Given the description of an element on the screen output the (x, y) to click on. 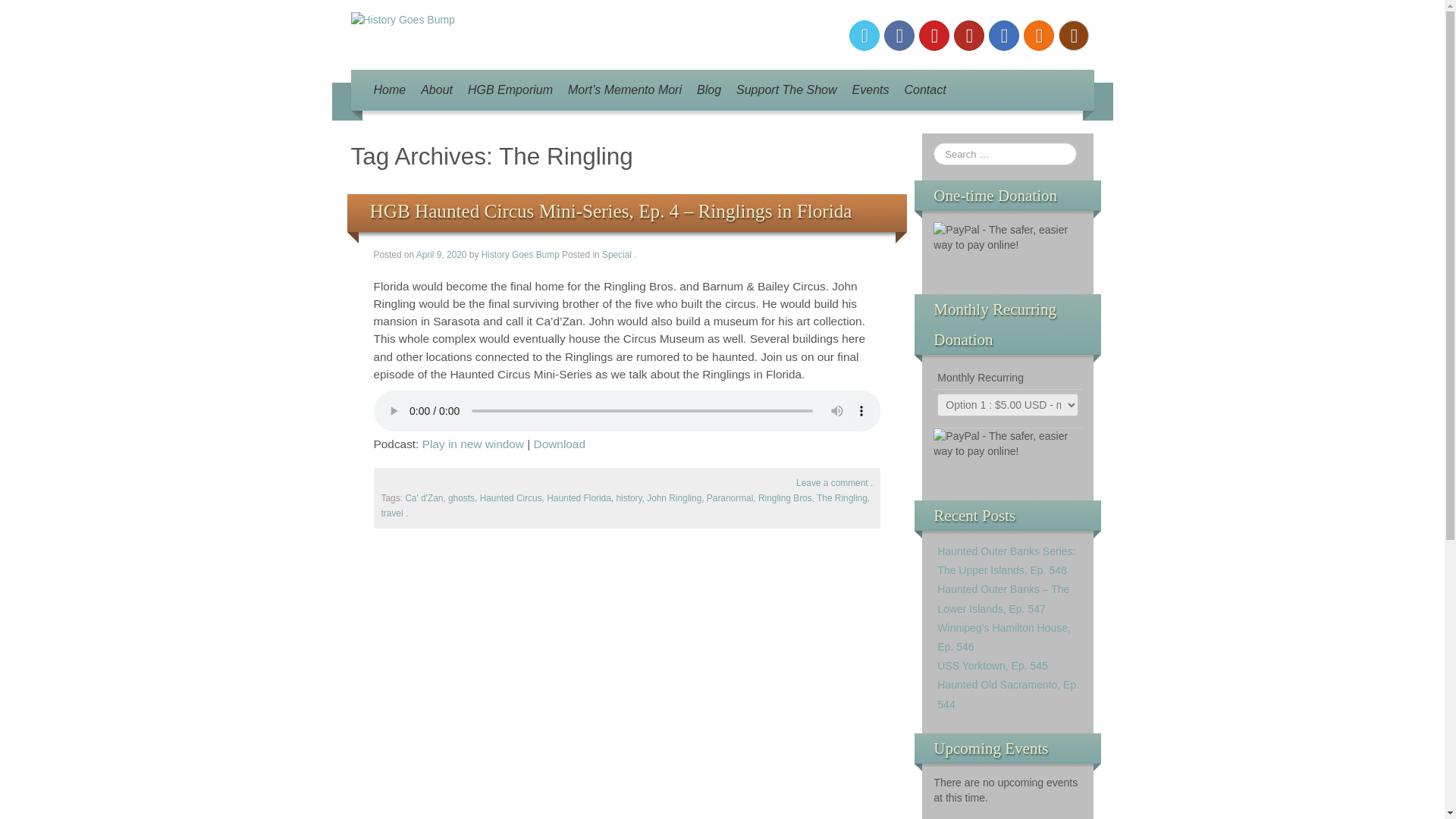
Leave a comment (831, 482)
7:12 am (442, 254)
History Goes Bump Email (1003, 35)
Blog (708, 89)
Events (870, 89)
Paranormal (729, 498)
History Goes Bump Facebook (898, 35)
Special (616, 254)
ghosts (461, 498)
USS Yorktown, Ep. 545 (992, 665)
history (628, 498)
Home (389, 89)
Download (559, 443)
Play in new window (473, 443)
Ca' d'Zan (423, 498)
